Given the description of an element on the screen output the (x, y) to click on. 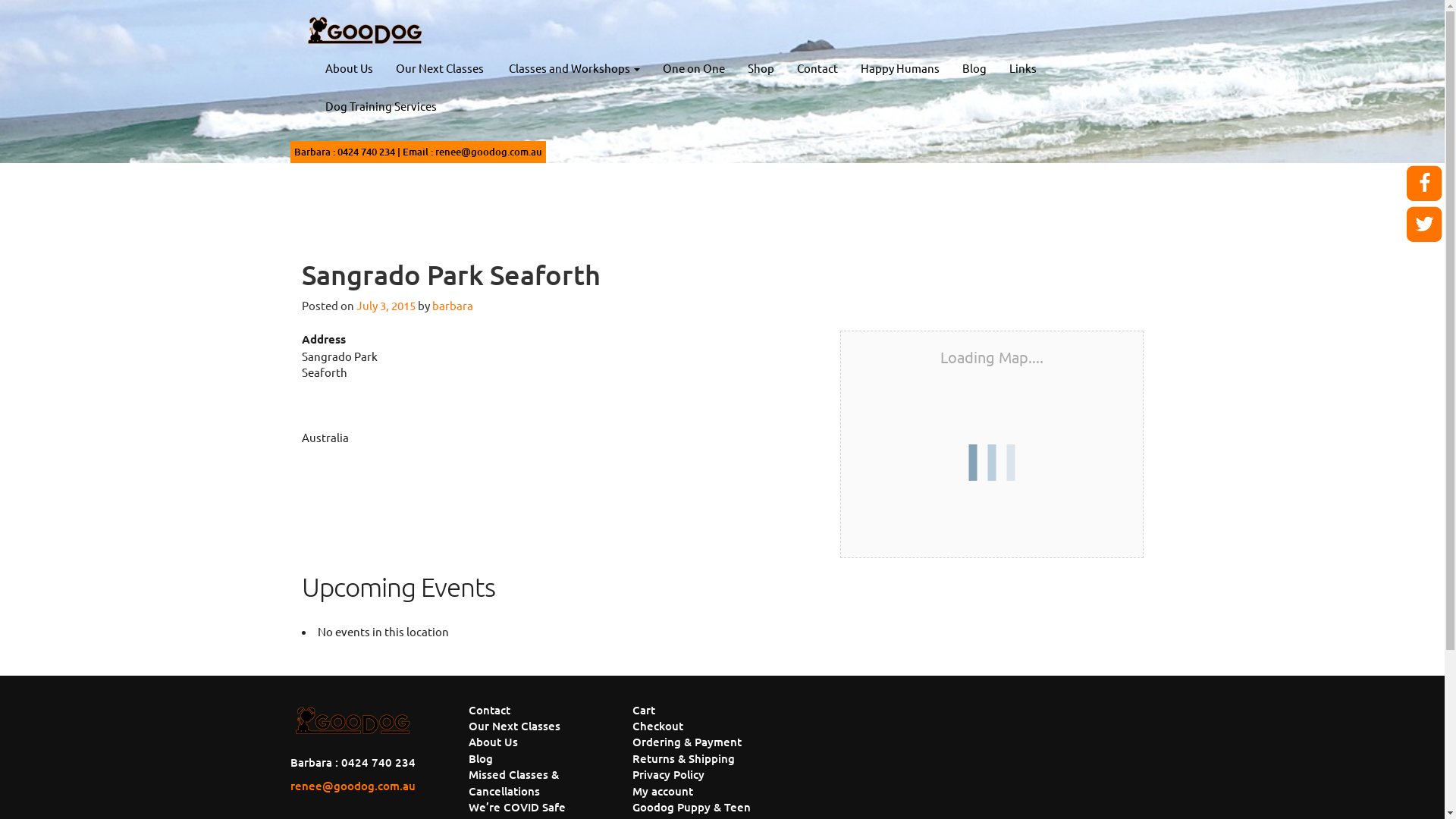
Blog Element type: text (973, 68)
barbara Element type: text (452, 305)
July 3, 2015 Element type: text (385, 305)
Happy Humans Element type: text (899, 68)
renee@goodog.com.au Element type: text (351, 785)
Our Next Classes Element type: text (438, 68)
Contact Element type: text (817, 68)
renee@goodog.com.au Element type: text (488, 151)
About Us Element type: text (492, 741)
One on One Element type: text (692, 68)
Shop Element type: text (759, 68)
Ordering & Payment Element type: text (686, 741)
Links Element type: text (1022, 68)
My account Element type: text (662, 790)
Blog Element type: text (480, 757)
Our Next Classes Element type: text (514, 725)
Contact Element type: text (489, 709)
Dog Training Services Element type: text (380, 106)
 Classes and Workshops Element type: text (572, 68)
Privacy Policy Element type: text (668, 773)
Returns & Shipping Element type: text (683, 757)
Cart Element type: text (643, 709)
Missed Classes & Cancellations Element type: text (513, 781)
Checkout Element type: text (657, 725)
About Us Element type: text (348, 68)
